Given the description of an element on the screen output the (x, y) to click on. 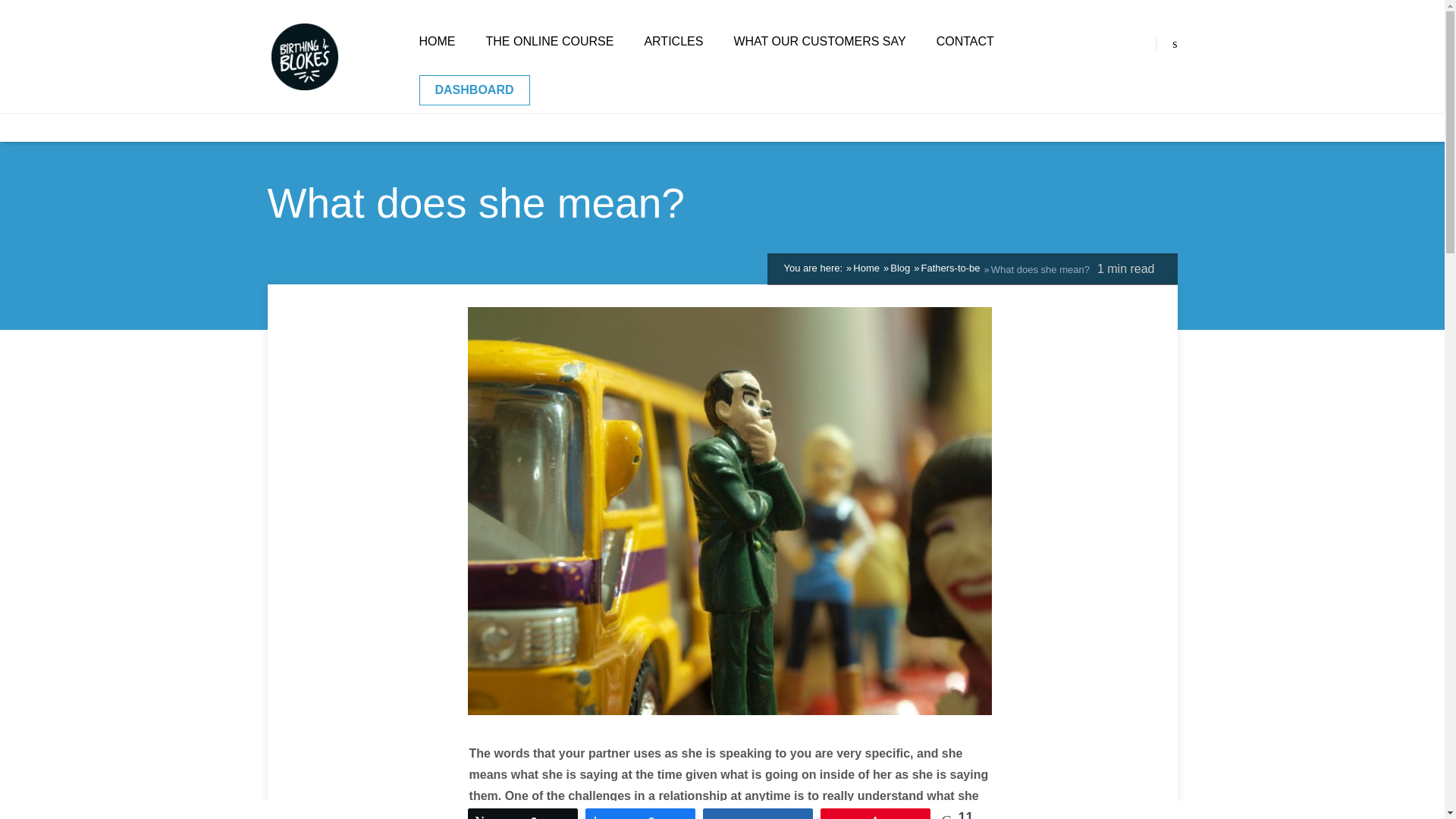
ARTICLES (673, 41)
HOME (436, 41)
8 (640, 814)
Blog (899, 267)
DASHBOARD (474, 90)
WHAT OUR CUSTOMERS SAY (819, 41)
CONTACT (965, 41)
3 (522, 814)
Home (866, 267)
